Given the description of an element on the screen output the (x, y) to click on. 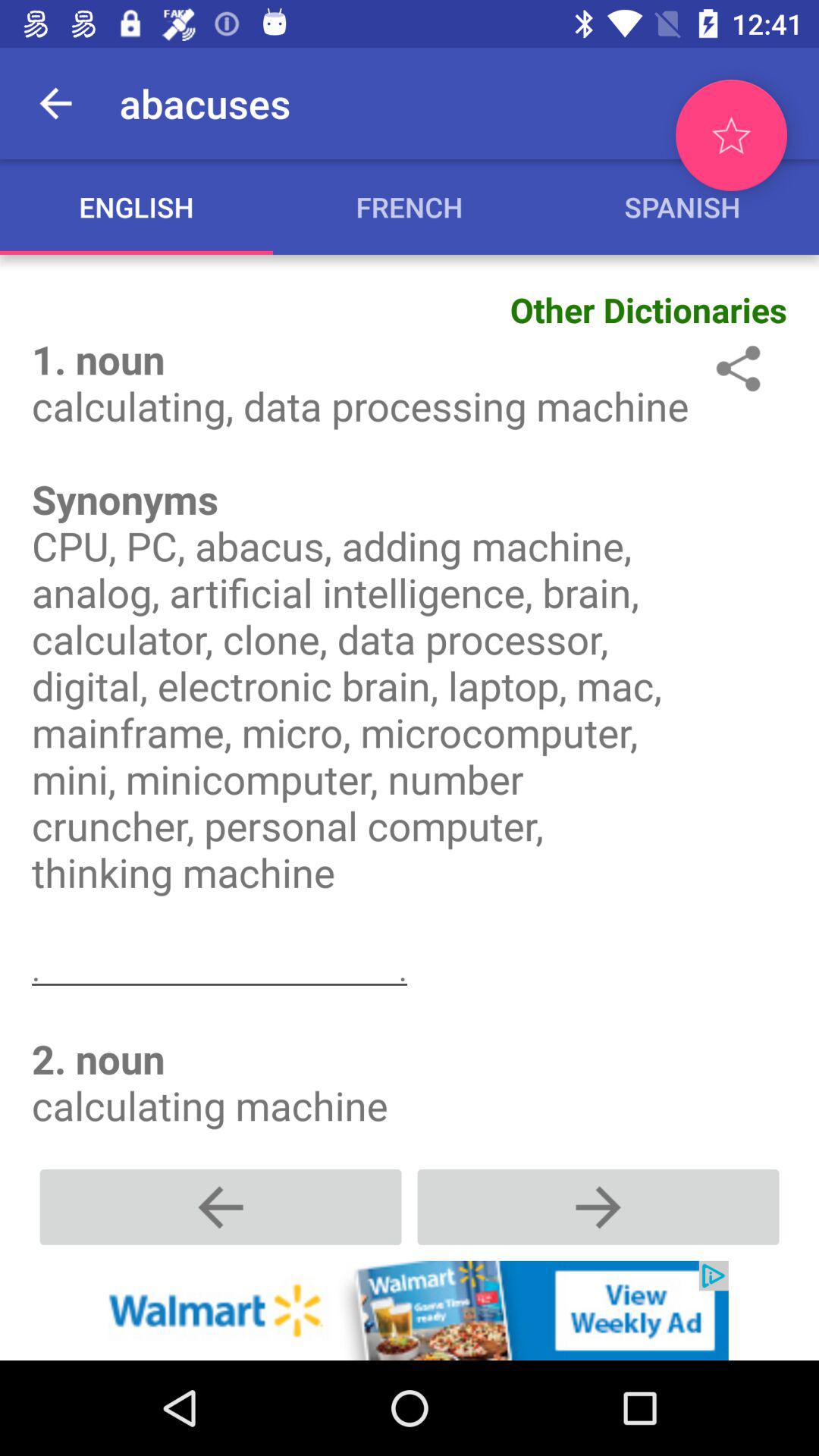
go back (220, 1206)
